Given the description of an element on the screen output the (x, y) to click on. 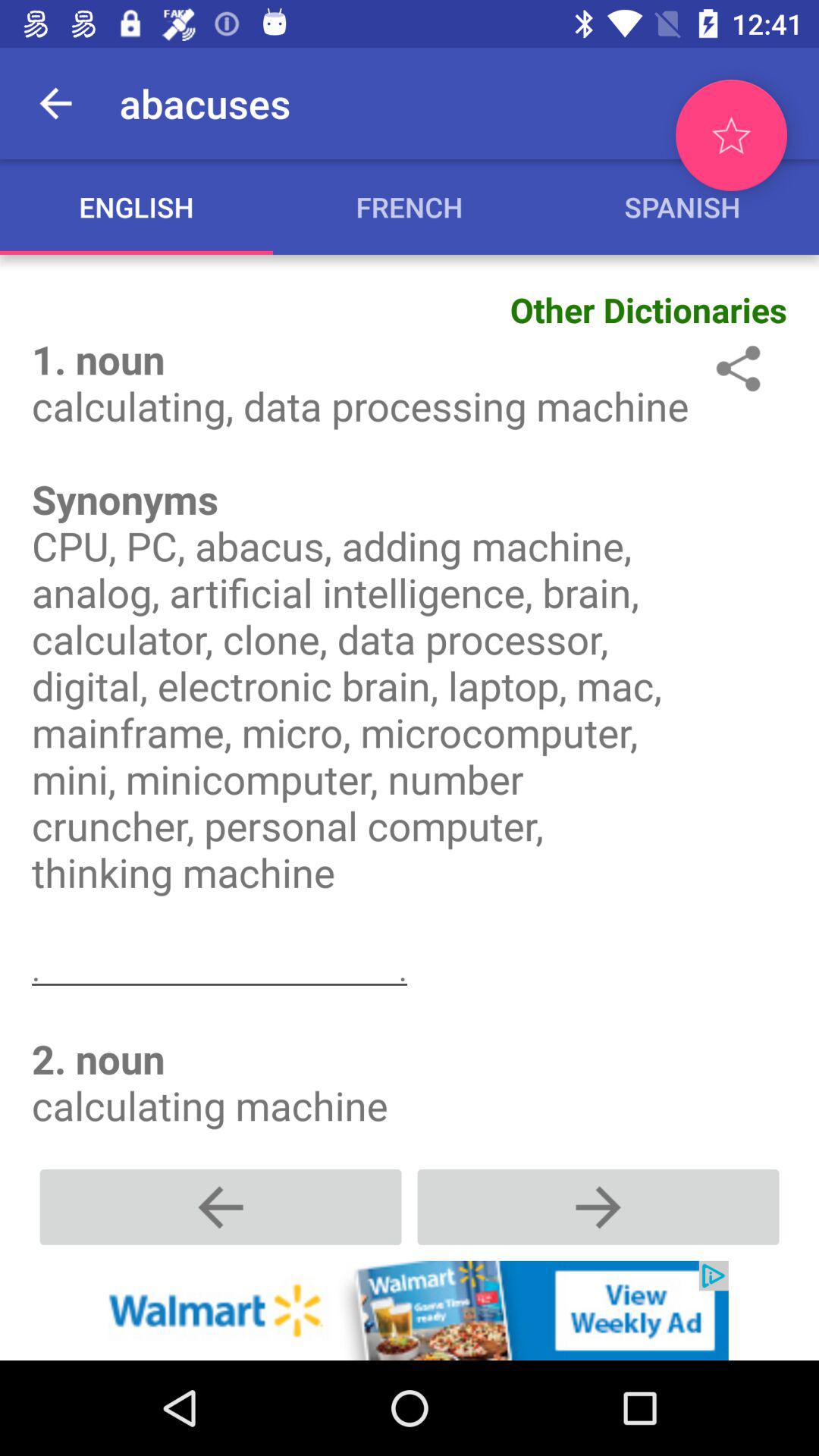
go back (220, 1206)
